Given the description of an element on the screen output the (x, y) to click on. 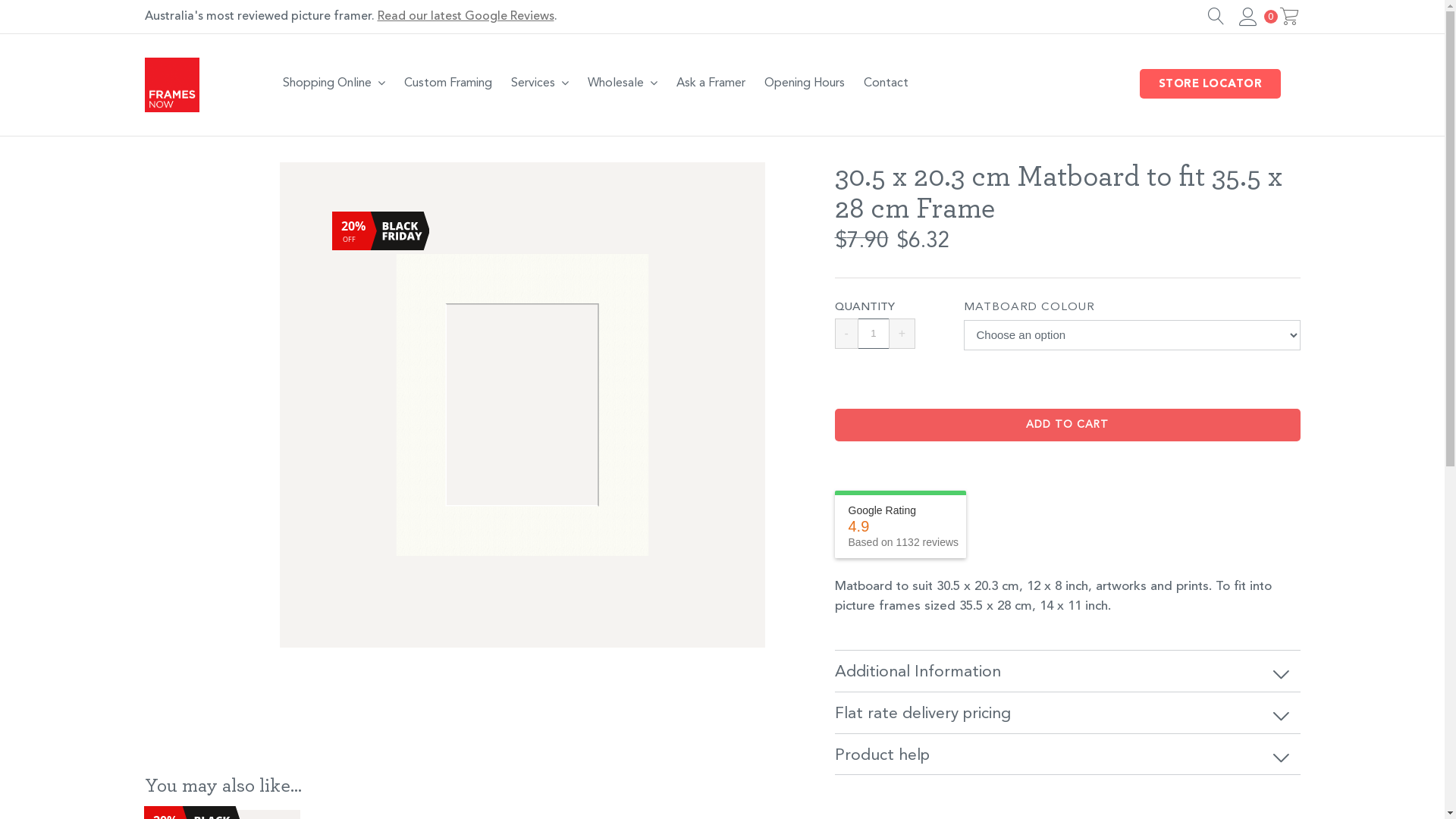
Qty Element type: hover (873, 333)
Read our latest Google Reviews Element type: text (465, 16)
BRIGHT-WHITE-MATBOARD Element type: hover (521, 404)
Shopping Online Element type: text (333, 83)
Custom Framing Element type: text (448, 83)
Services Element type: text (539, 83)
- Element type: text (845, 333)
ADD TO CART Element type: text (1066, 424)
STORE LOCATOR Element type: text (1210, 83)
Contact Element type: text (885, 83)
Ask a Framer Element type: text (710, 83)
Wholesale Element type: text (622, 83)
Opening Hours Element type: text (804, 83)
+ Element type: text (901, 333)
